Given the description of an element on the screen output the (x, y) to click on. 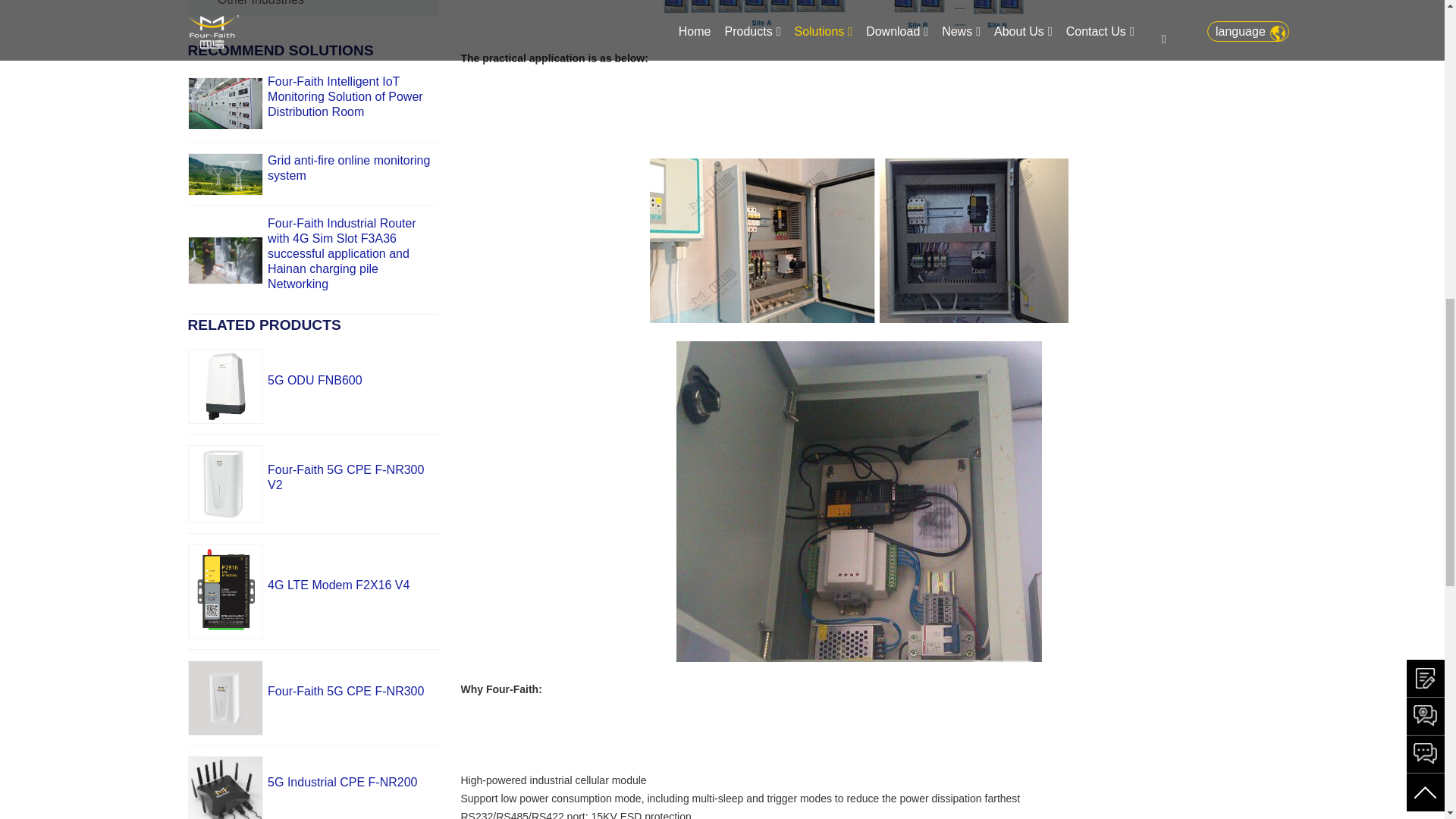
Other Industries (260, 2)
